Given the description of an element on the screen output the (x, y) to click on. 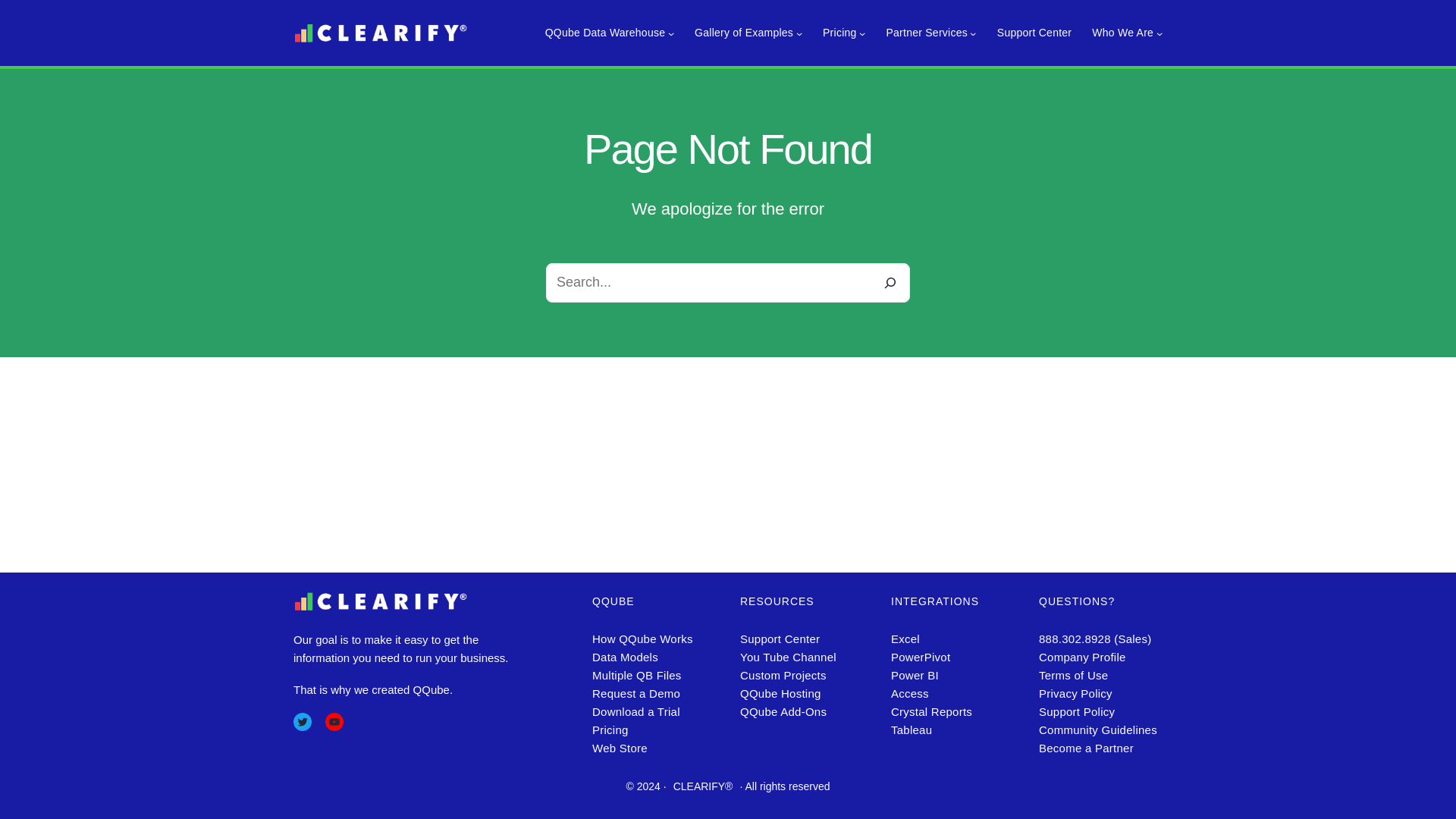
QQube Starter and Real World Examples (743, 32)
QQube Data Warehouse (604, 32)
LInks for Using QQube (604, 32)
Support Center (1034, 32)
YouTube (333, 721)
Twitter (302, 721)
Gallery of Examples (743, 32)
Who We Are (1122, 32)
Pricing (839, 32)
Partner Services (925, 32)
